Given the description of an element on the screen output the (x, y) to click on. 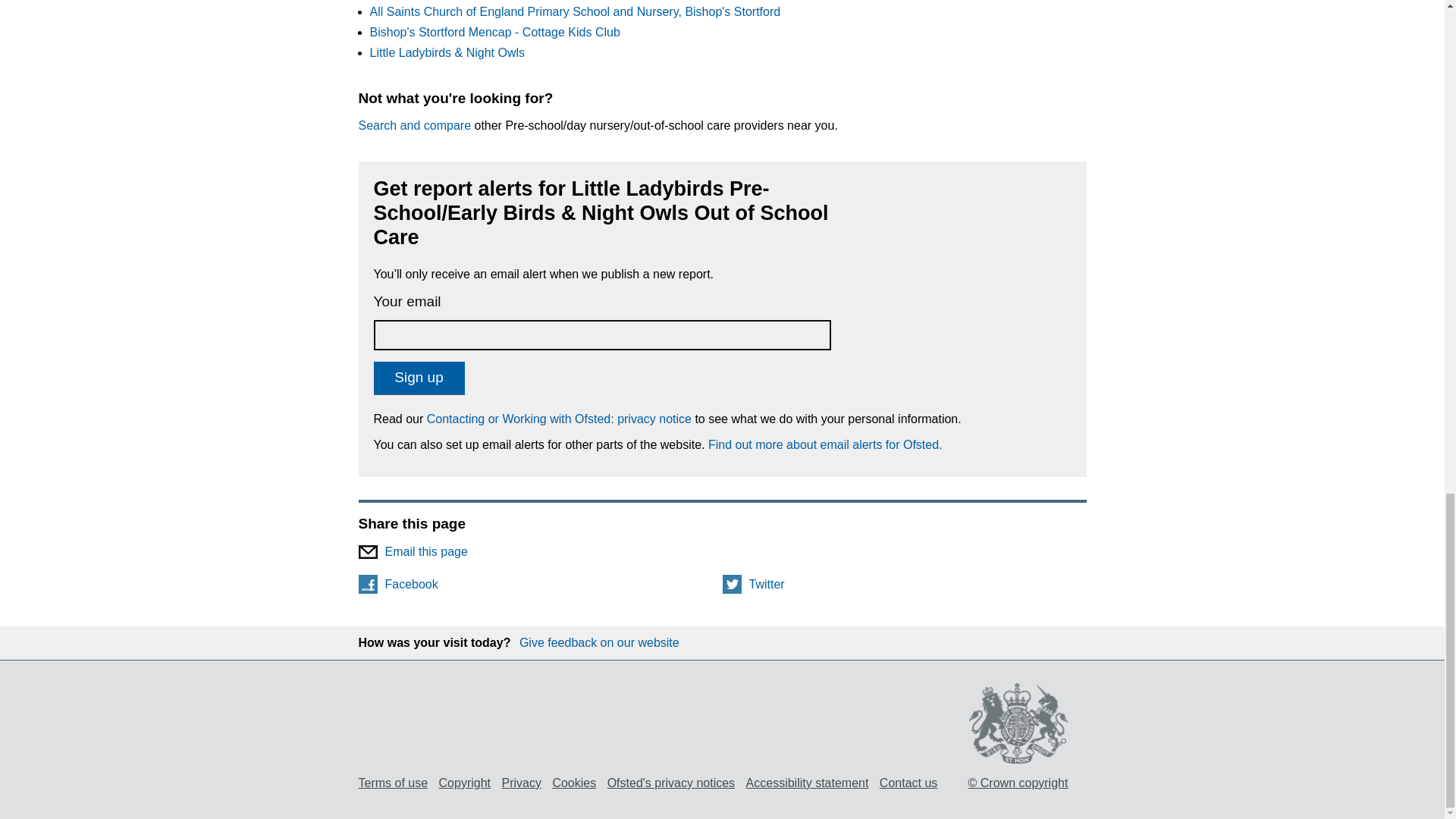
Accessibility statement (807, 782)
Cookies (573, 782)
Bishop's Stortford Mencap - Cottage Kids Club (494, 31)
Email this page (722, 551)
Twitter (904, 583)
Give feedback on our website (599, 642)
Contacting or Working with Ofsted: privacy notice (558, 418)
Copyright (464, 782)
Sign up (418, 377)
